Given the description of an element on the screen output the (x, y) to click on. 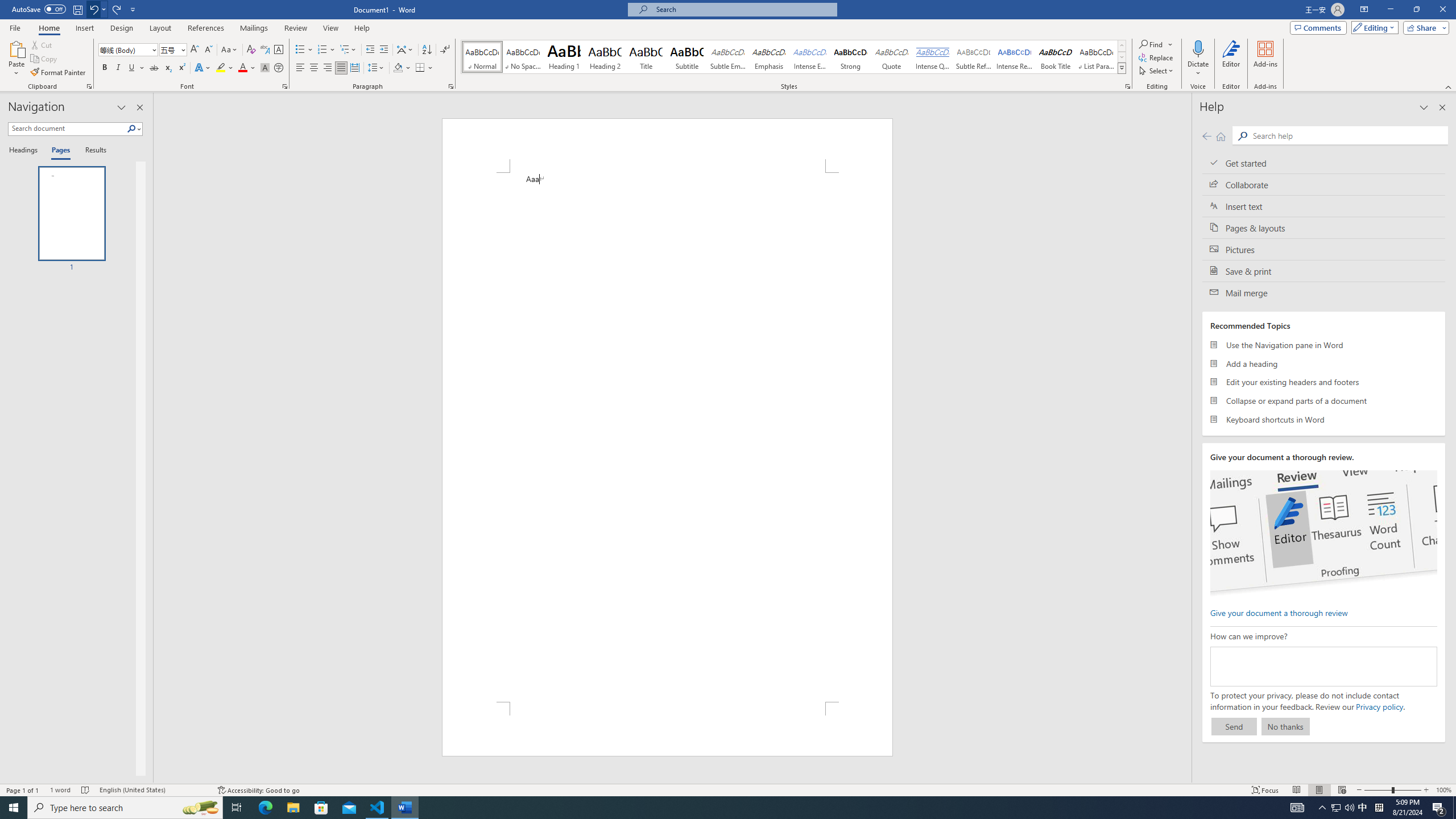
AutomationID: QuickStylesGallery (794, 56)
Font Color Red (241, 67)
Strikethrough (154, 67)
Styles (1121, 67)
Spelling and Grammar Check No Errors (85, 790)
Paragraph... (450, 85)
Styles... (1127, 85)
Shrink Font (208, 49)
Row Down (1121, 56)
Font... (285, 85)
